Given the description of an element on the screen output the (x, y) to click on. 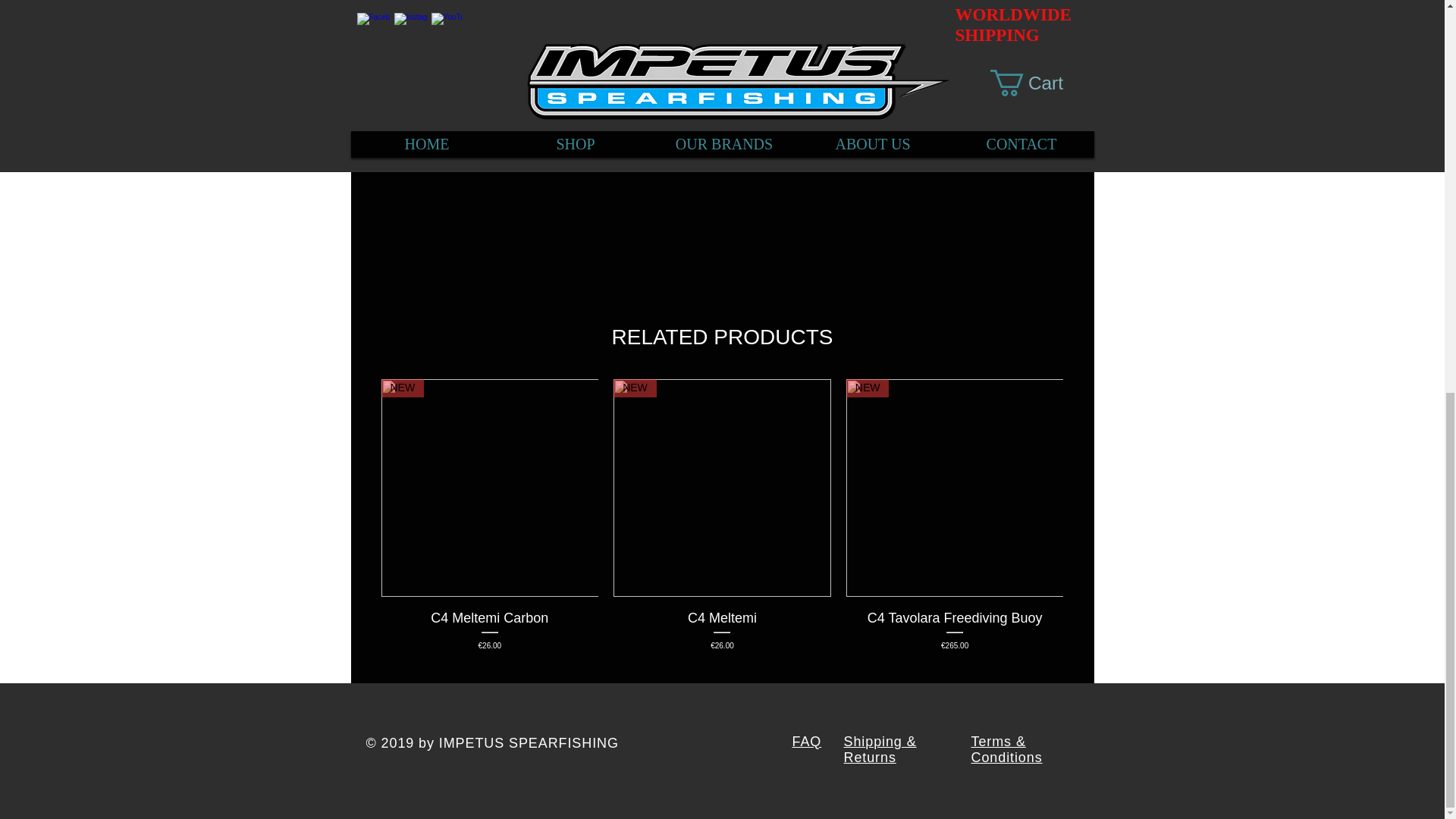
NEW (721, 488)
NEW (489, 488)
